Given the description of an element on the screen output the (x, y) to click on. 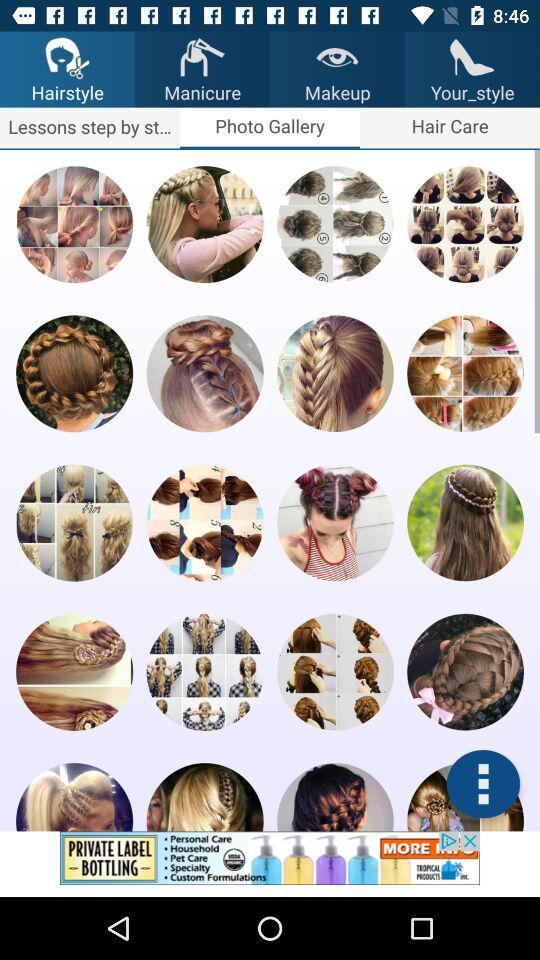
select image (465, 671)
